Given the description of an element on the screen output the (x, y) to click on. 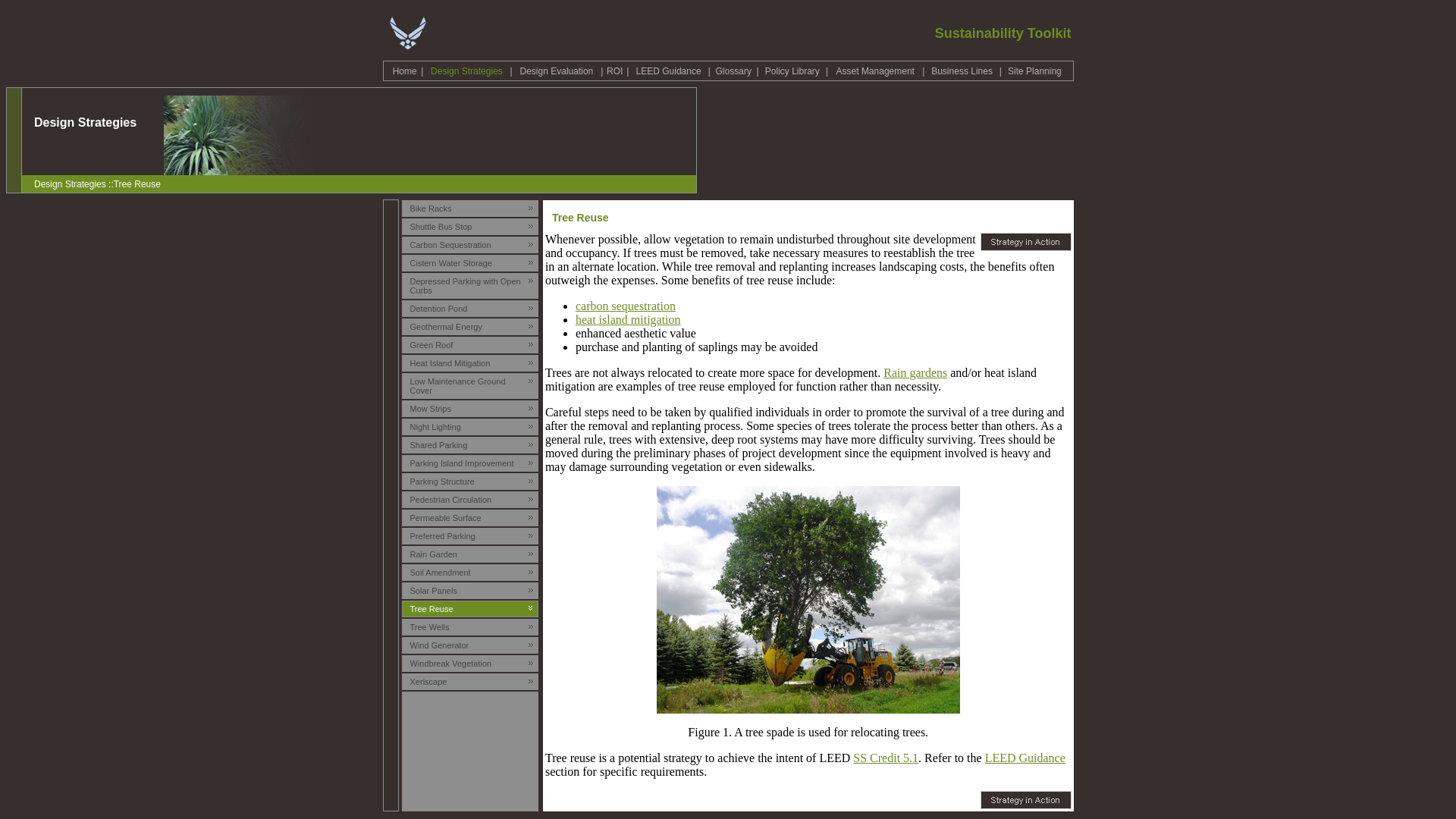
Windbreak Vegetation (451, 662)
Asset Management (874, 70)
Tree Reuse (431, 607)
Detention Pond (438, 307)
Parking Structure (442, 480)
Carbon Sequestration (451, 243)
Xeriscape (428, 680)
Pedestrian Circulation (451, 498)
Design Evaluation (556, 70)
Tree Wells (429, 625)
Parking Island Improvement (461, 461)
Mow Strips (430, 407)
Rain Garden (433, 552)
Design Strategies (466, 70)
Business Lines (961, 70)
